Given the description of an element on the screen output the (x, y) to click on. 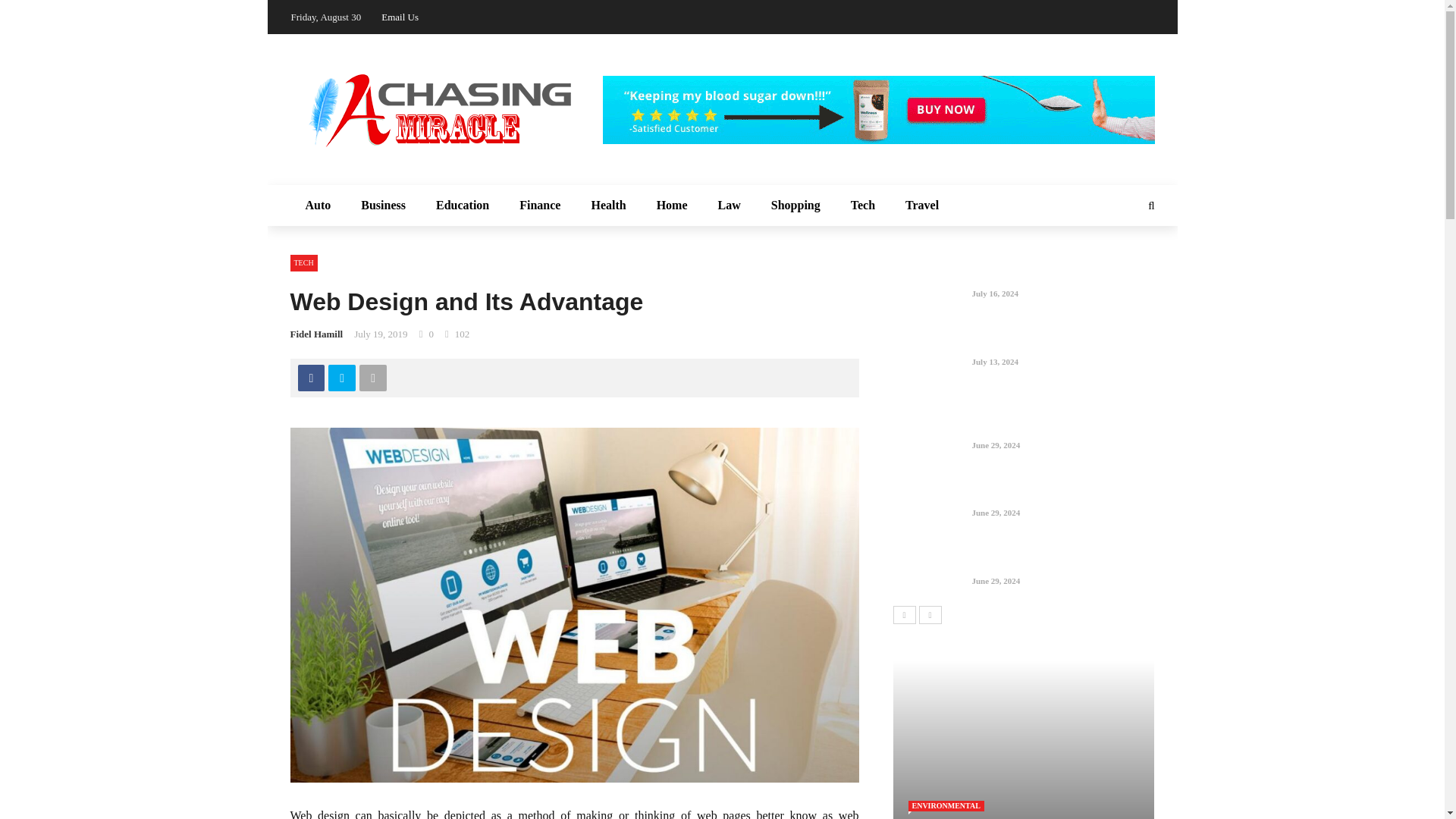
Home (672, 205)
Auto (317, 205)
Education (461, 205)
Tech (862, 205)
Fidel Hamill (315, 333)
Travel (921, 205)
Email Us (400, 16)
Shopping (795, 205)
TECH (303, 262)
Business (383, 205)
